Given the description of an element on the screen output the (x, y) to click on. 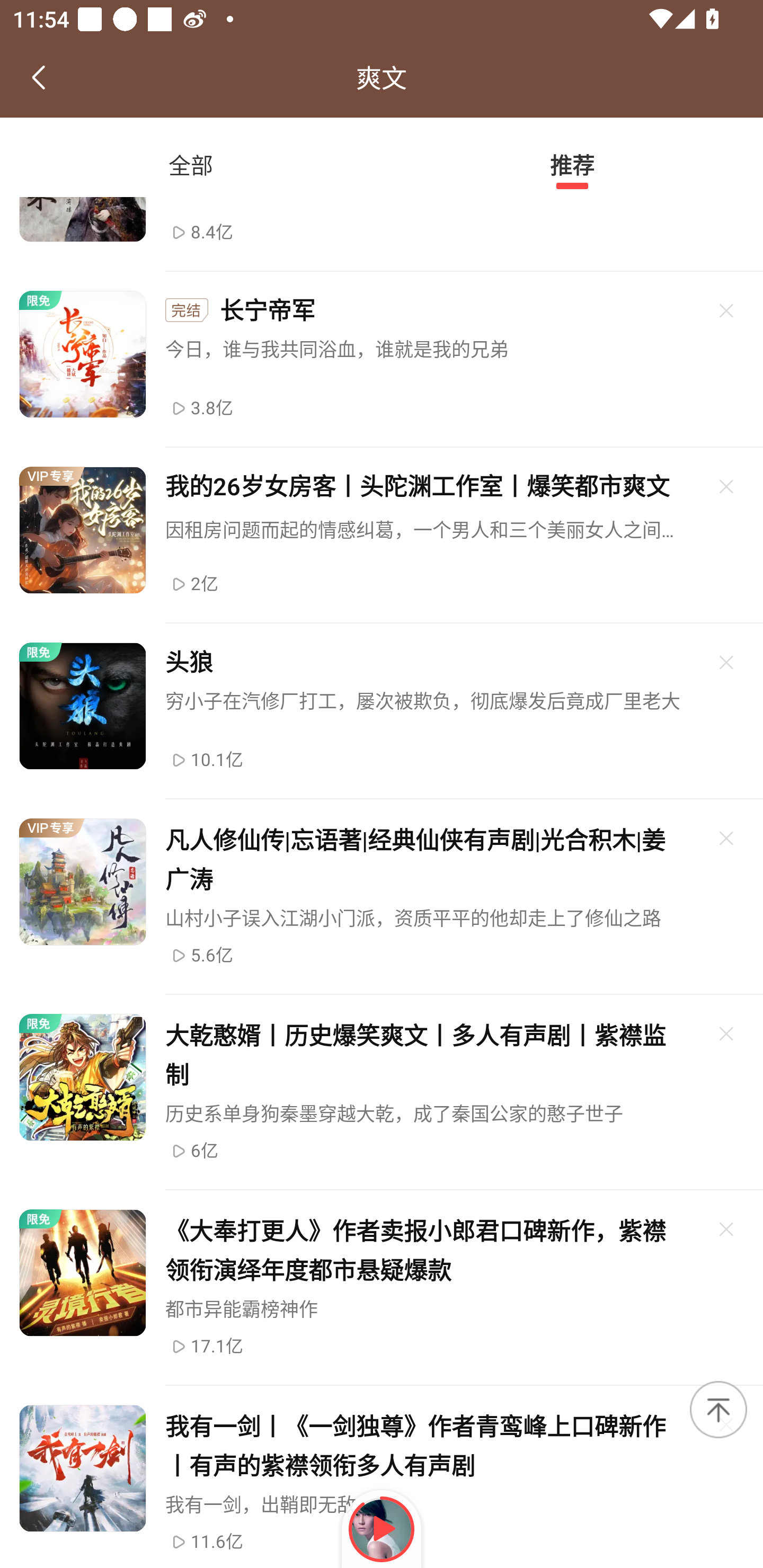
返回 (37, 77)
全部 (190, 165)
推荐 (572, 165)
专辑标签    长宁帝军 今日，谁与我共同浴血，谁就是我的兄弟 3.8亿 更多 (381, 358)
更多 (727, 310)
更多 (727, 486)
专辑标签 头狼 穷小子在汽修厂打工，屡次被欺负，彻底爆发后竟成厂里老大 10.1亿 更多 (381, 711)
更多 (727, 662)
更多 (727, 837)
更多 (727, 1033)
更多 (727, 1228)
返回顶部 (717, 1409)
继续播放Alpha-橘子海OrangeOcean (381, 1529)
